Given the description of an element on the screen output the (x, y) to click on. 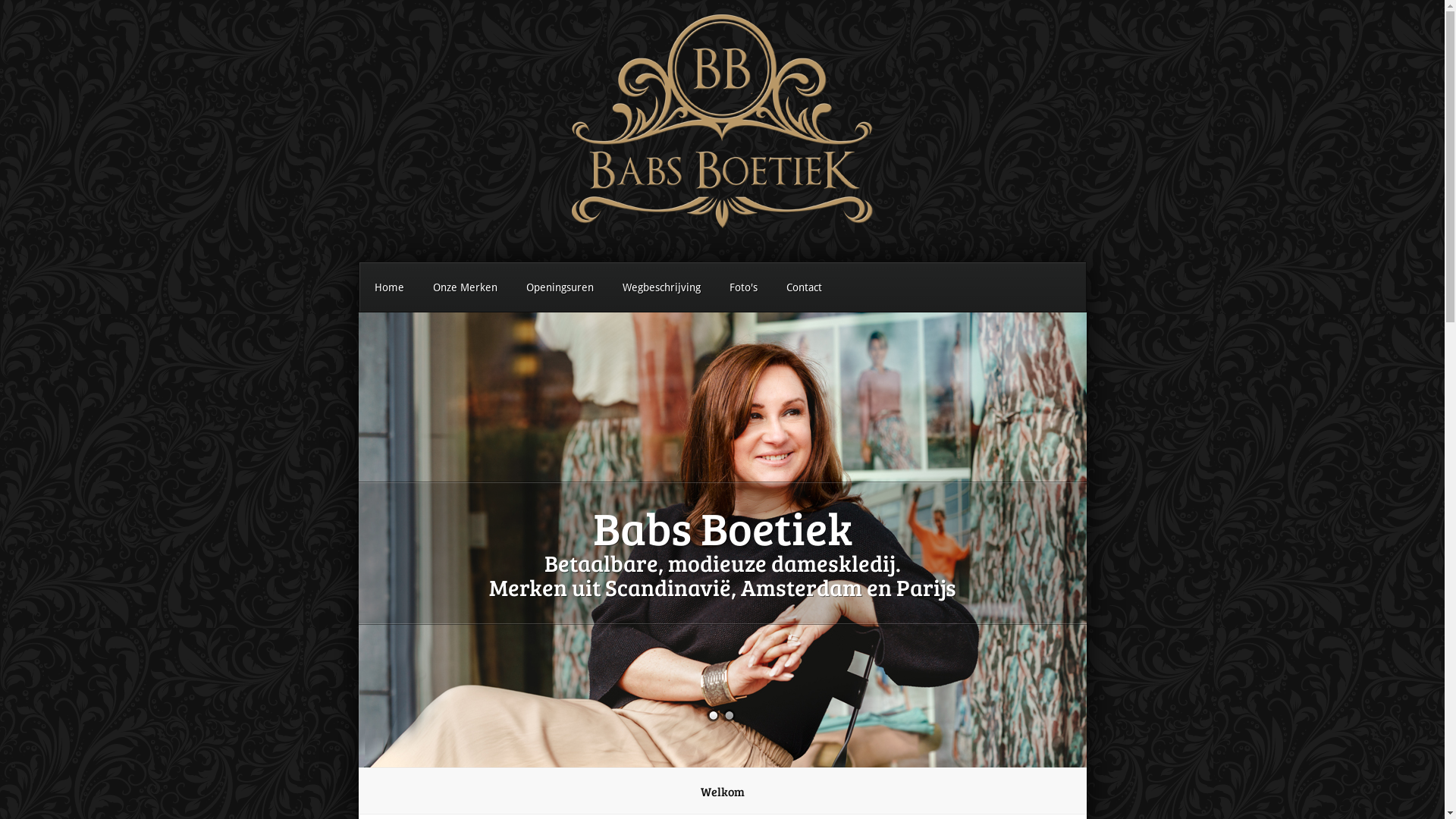
Babs Boetiek Element type: text (722, 526)
Home Element type: text (388, 287)
Openingsuren Element type: text (559, 287)
Foto's Element type: text (742, 287)
1 Element type: text (712, 715)
2 Element type: text (727, 715)
Contact Element type: text (803, 287)
Wegbeschrijving Element type: text (661, 287)
Onze Merken Element type: text (464, 287)
